Given the description of an element on the screen output the (x, y) to click on. 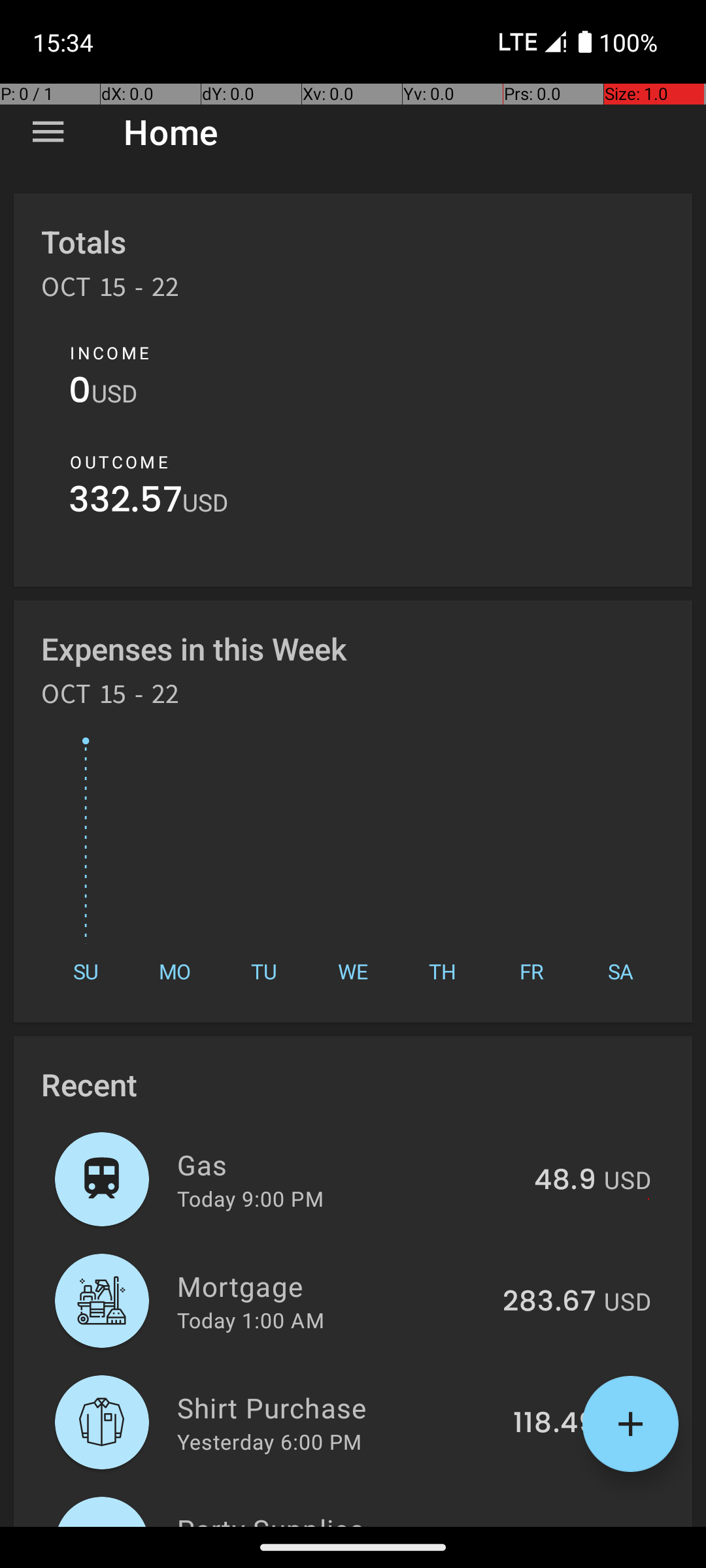
332.57 Element type: android.widget.TextView (125, 502)
48.9 Element type: android.widget.TextView (564, 1180)
Today 1:00 AM Element type: android.widget.TextView (250, 1320)
283.67 Element type: android.widget.TextView (549, 1301)
Shirt Purchase Element type: android.widget.TextView (337, 1407)
Yesterday 6:00 PM Element type: android.widget.TextView (269, 1441)
118.49 Element type: android.widget.TextView (554, 1423)
478.9 Element type: android.widget.TextView (556, 1524)
